Given the description of an element on the screen output the (x, y) to click on. 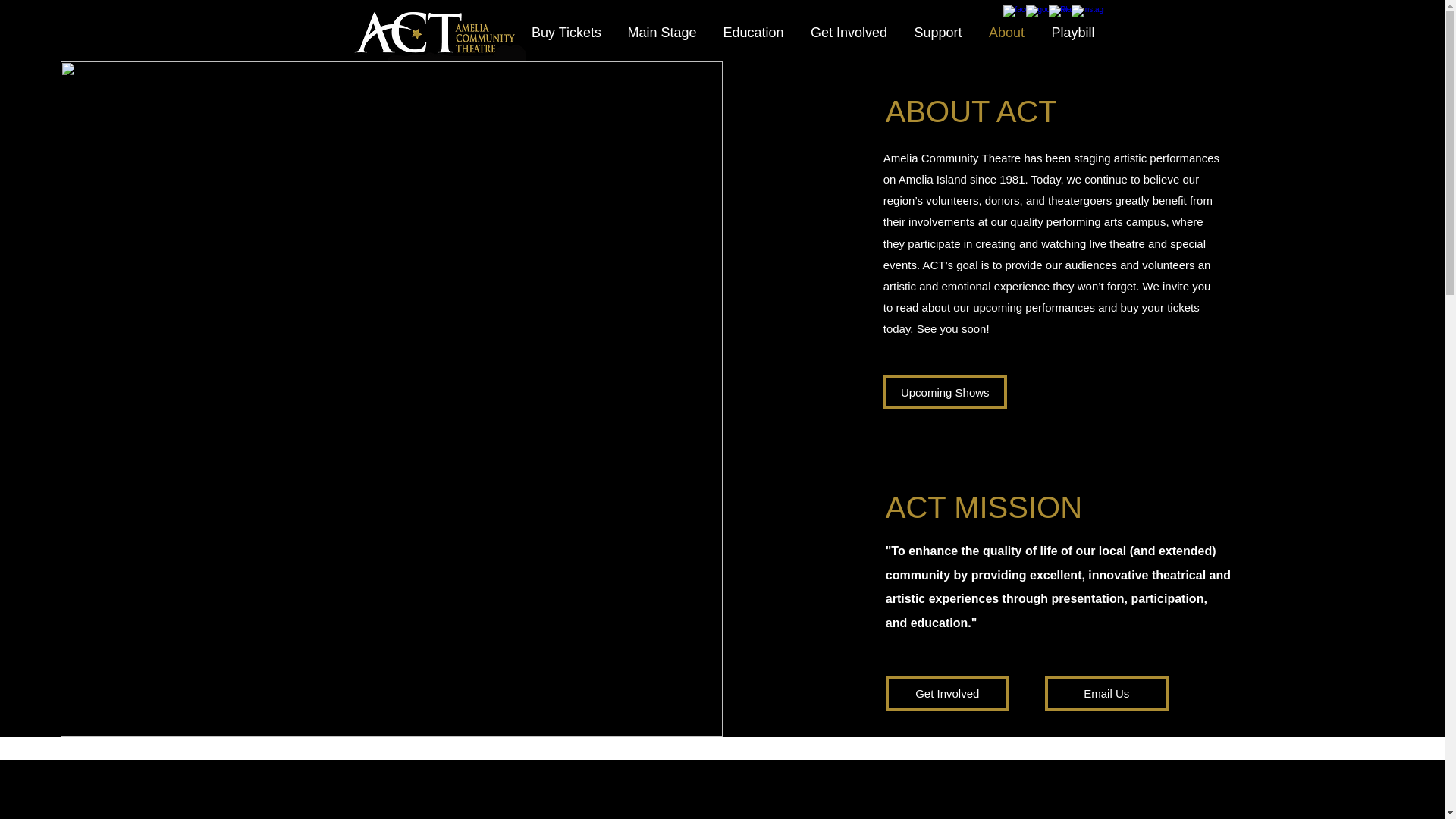
Upcoming Shows (945, 392)
Get Involved (947, 693)
ACTlogoWhiteGold.png (437, 32)
Education (753, 32)
External YouTube (590, 812)
Playbill (1073, 32)
Get Involved (849, 32)
Main Stage (661, 32)
Support (937, 32)
About (1005, 32)
